Given the description of an element on the screen output the (x, y) to click on. 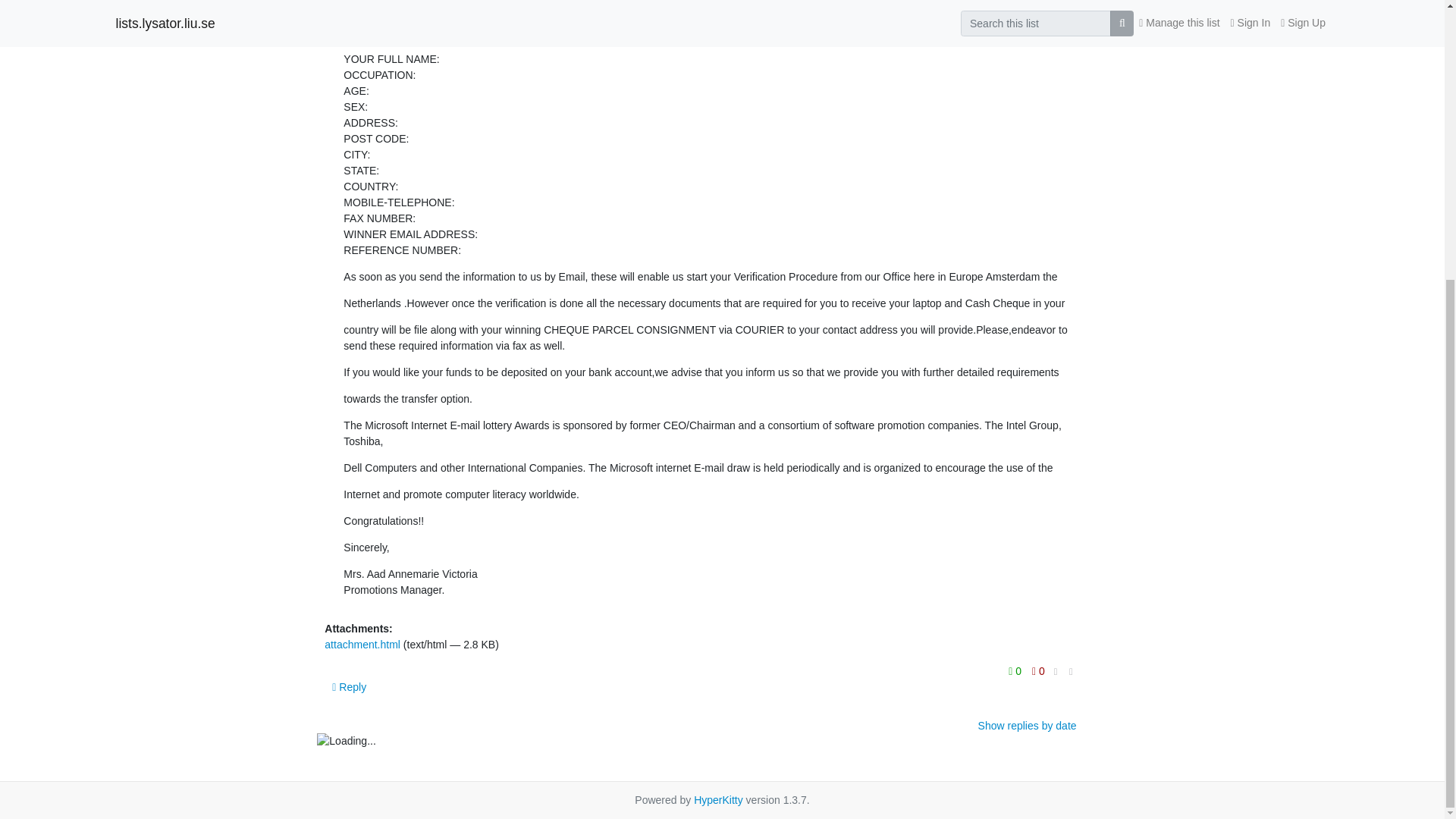
You must be logged-in to vote. (1037, 670)
Sign in to reply online (349, 687)
You must be logged-in to vote. (1015, 670)
